Given the description of an element on the screen output the (x, y) to click on. 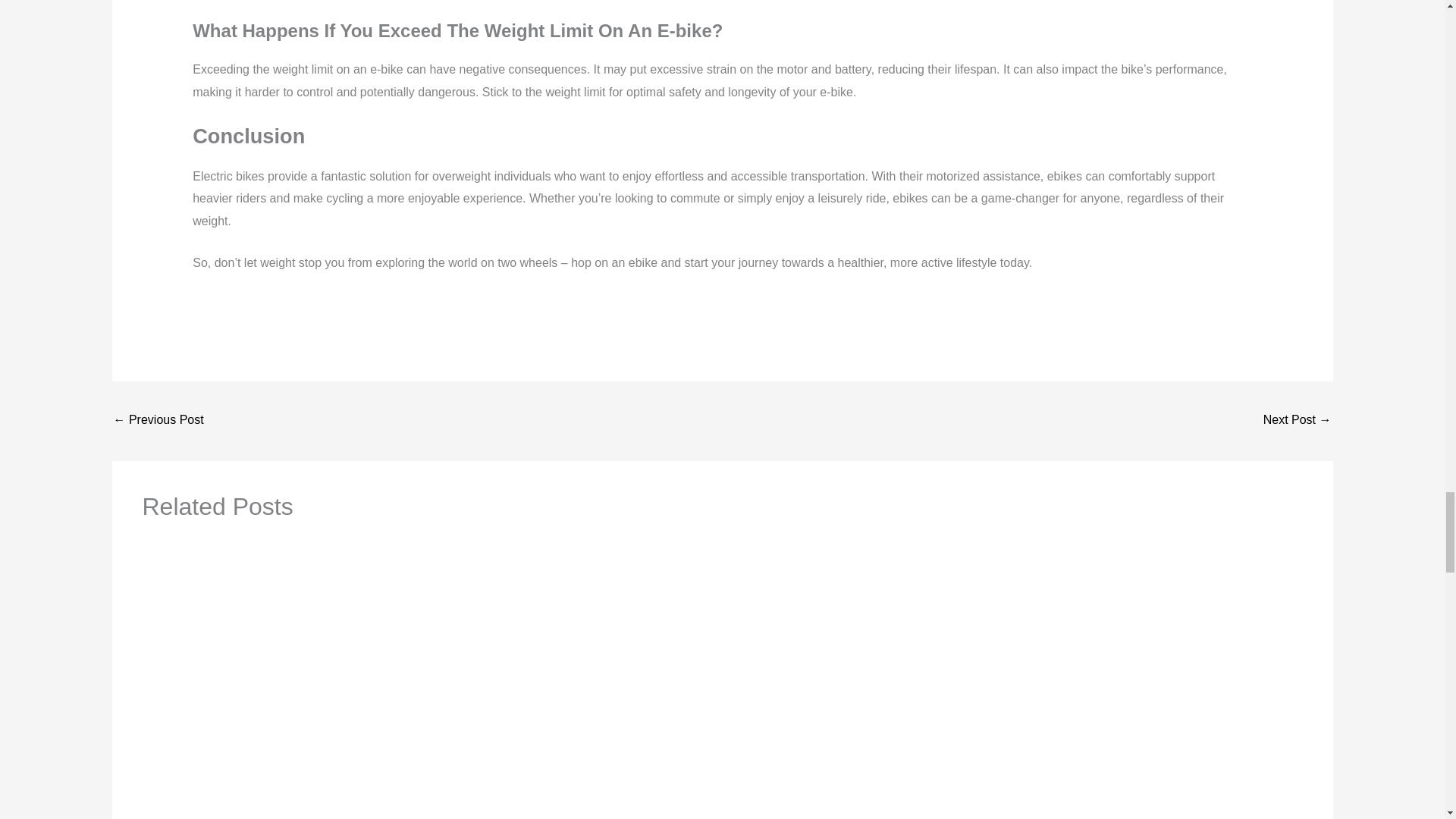
What Happens If You Put Too Much Weight on E-Bike? (158, 420)
How Heavy is the Vivi Electric Bike? (1297, 420)
